Given the description of an element on the screen output the (x, y) to click on. 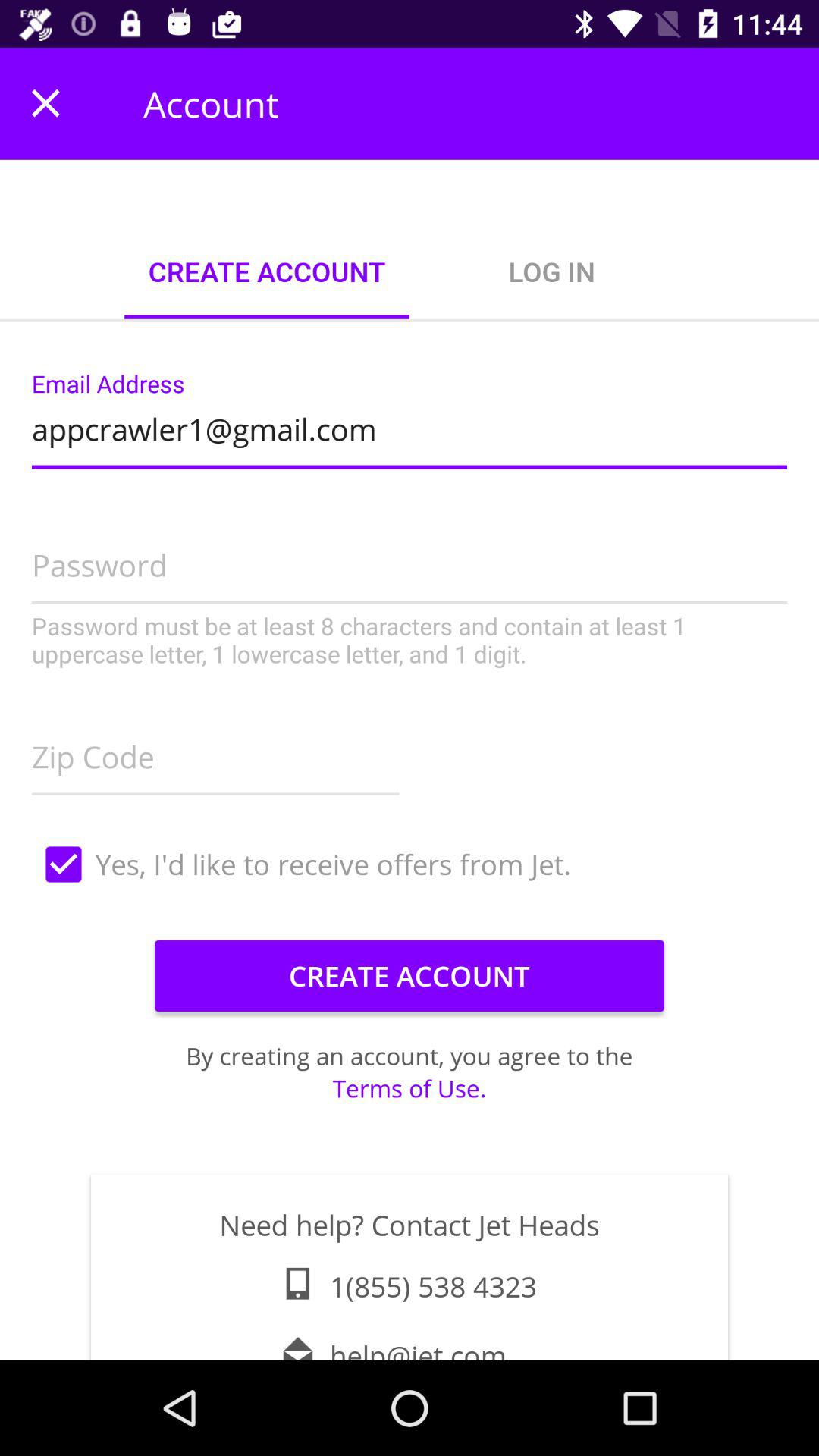
click the terms of use. (409, 1088)
